Given the description of an element on the screen output the (x, y) to click on. 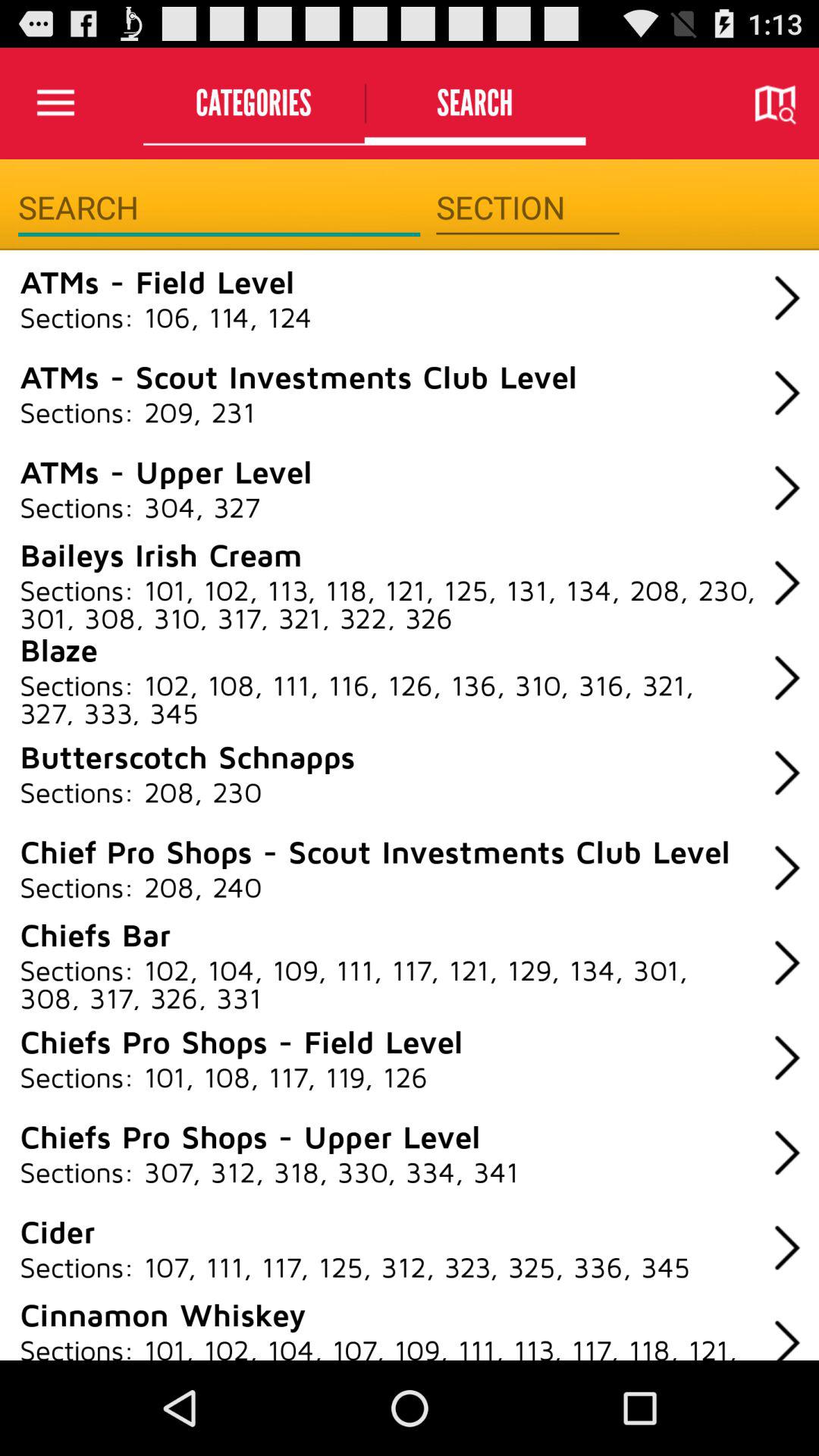
turn off butterscotch schnapps (186, 756)
